Given the description of an element on the screen output the (x, y) to click on. 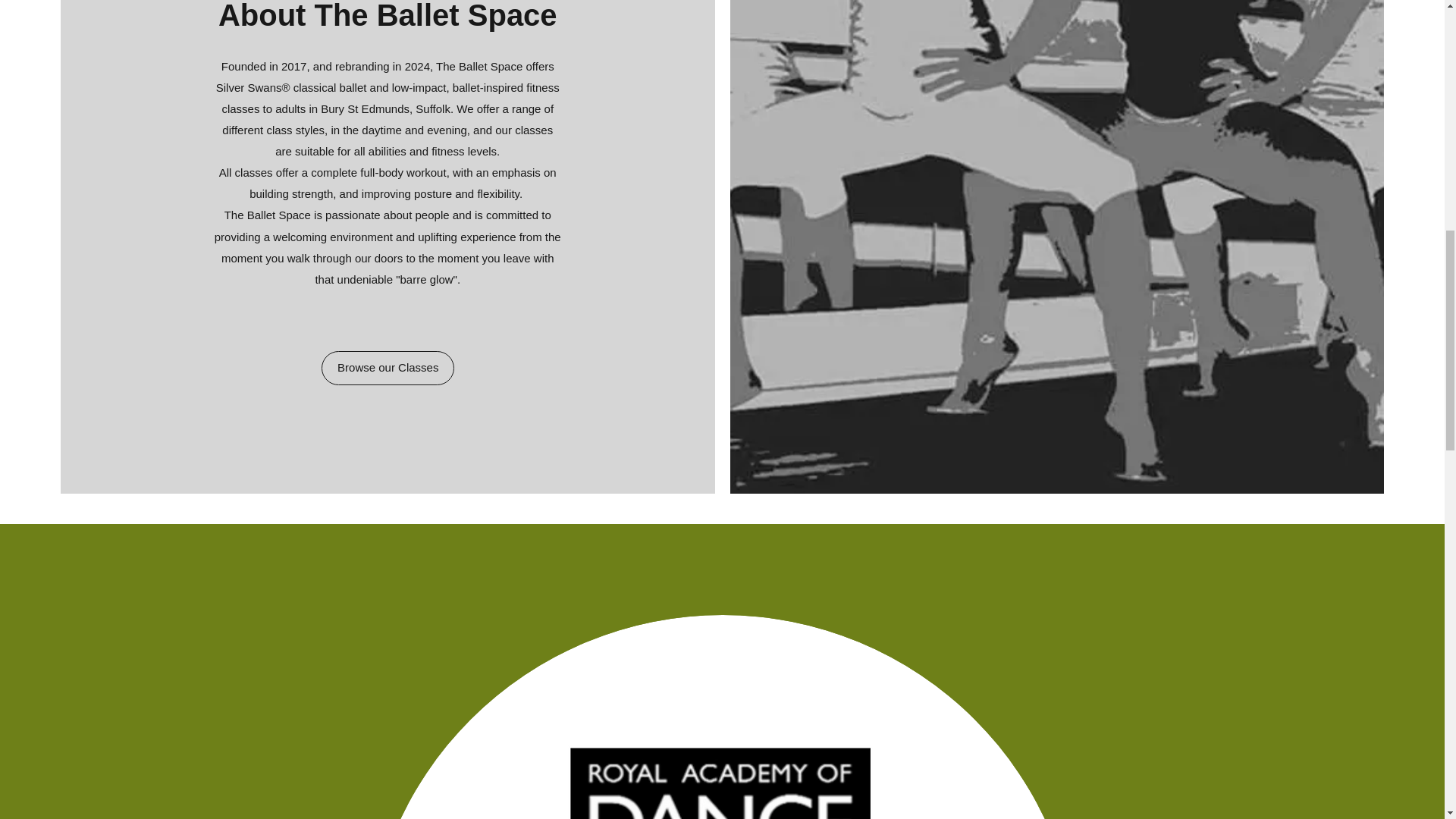
Browse our Classes (387, 367)
